Given the description of an element on the screen output the (x, y) to click on. 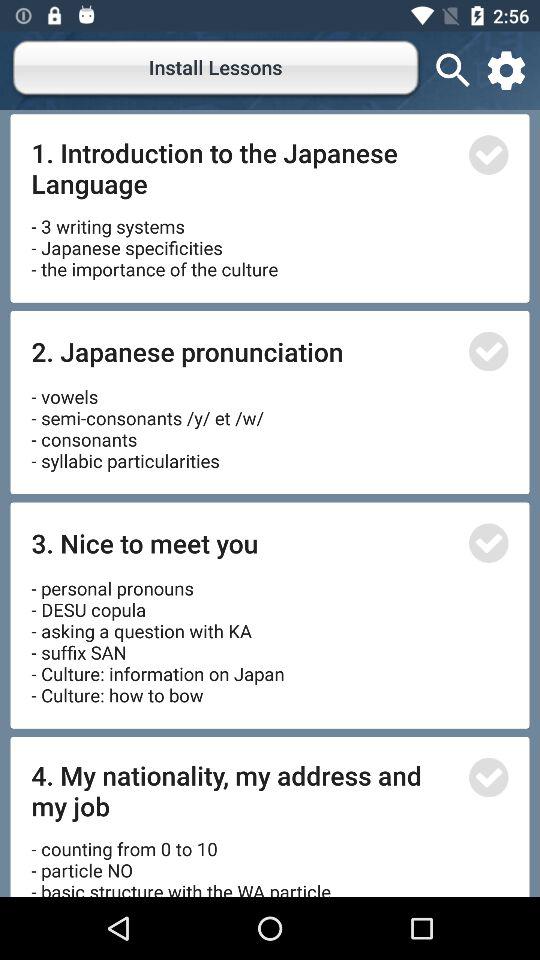
scroll to 4 my nationality (243, 790)
